Given the description of an element on the screen output the (x, y) to click on. 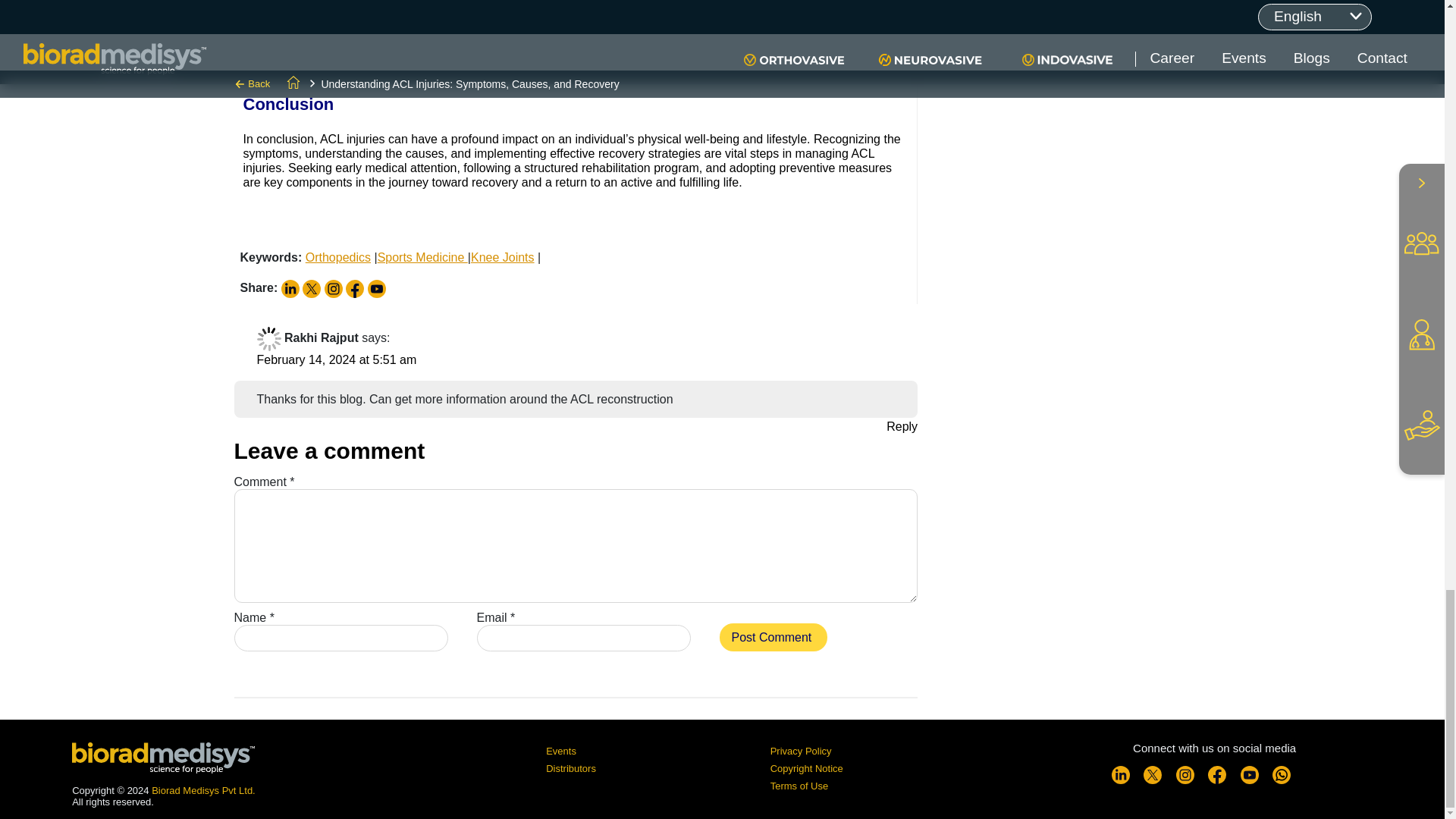
Biorad Medisys Pvt Ltd. (203, 790)
Events (561, 750)
Reply (901, 426)
Post Comment (773, 637)
Post Comment (773, 637)
February 14, 2024 at 5:51 am (336, 359)
